Given the description of an element on the screen output the (x, y) to click on. 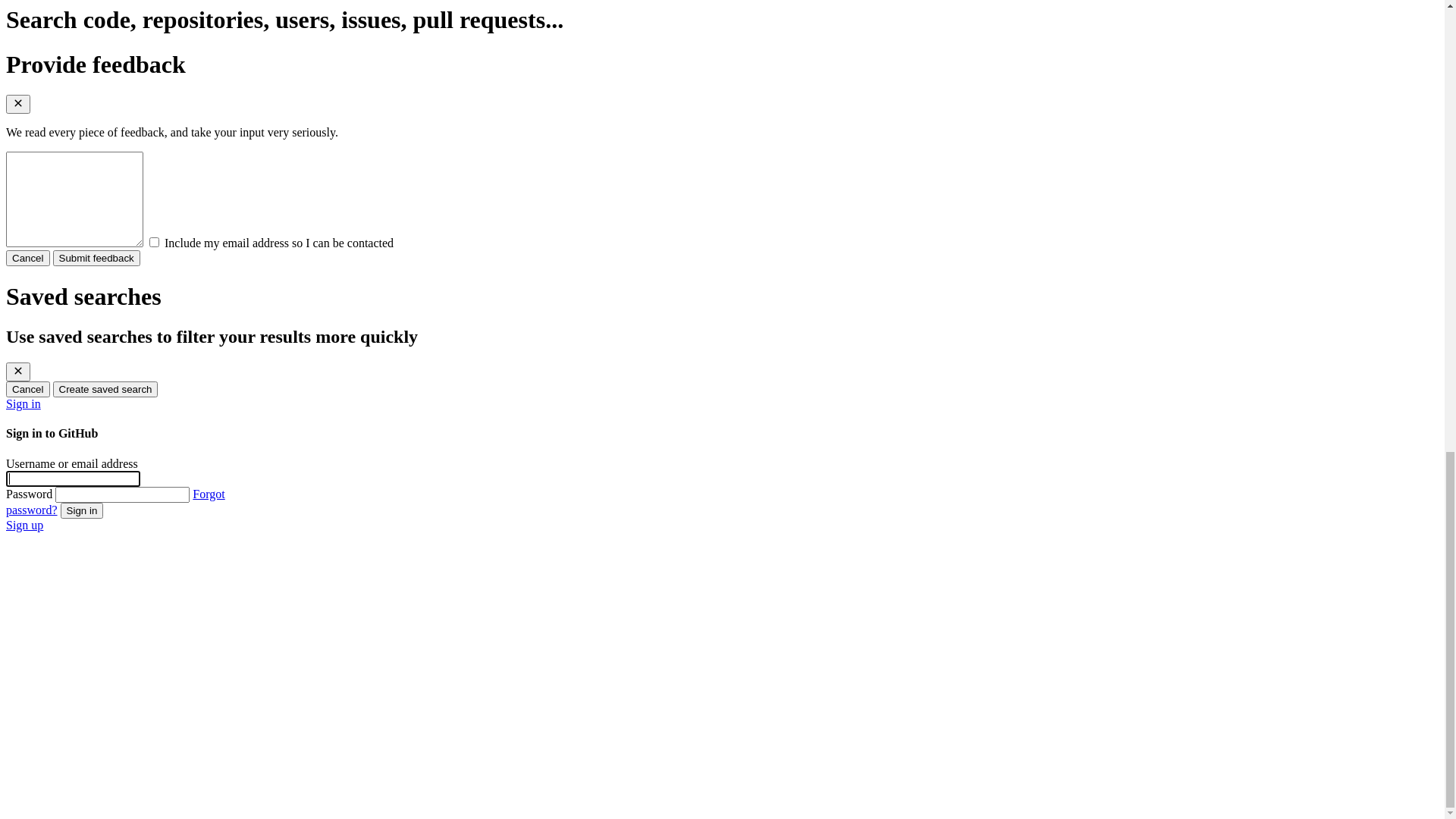
Actions
Automate any workflow Element type: text (752, 148)
Discussions
Collaborate outside of code Element type: text (752, 488)
Security
Find and fix vulnerabilities Element type: text (752, 245)
Issues
Plan and track work Element type: text (752, 440)
Copilot
Write better code with AI Element type: text (752, 343)
Packages
Host and manage packages Element type: text (752, 197)
DevSecOps Element type: text (102, 721)
Partners Element type: text (93, 793)
Teams Element type: text (82, 634)
Enterprise Element type: text (91, 621)
Skip to content Element type: text (42, 12)
Learning Pathways Element type: text (120, 749)
Toggle navigation Element type: text (51, 27)
Blog Element type: text (85, 574)
DevOps Element type: text (93, 705)
GitHub Skills Element type: text (107, 559)
Product Element type: text (67, 111)
Startups Element type: text (86, 648)
Sign up Element type: text (24, 68)
Documentation Element type: text (111, 544)
CI/CD & Automation Element type: text (119, 690)
White papers, Ebooks, Webinars Element type: text (153, 765)
Customer Stories Element type: text (108, 778)
Education Element type: text (98, 663)
All features Element type: text (94, 529)
Codespaces
Instant dev environments Element type: text (752, 294)
Solutions Element type: text (70, 591)
Code review
Manage code changes Element type: text (752, 391)
